Given the description of an element on the screen output the (x, y) to click on. 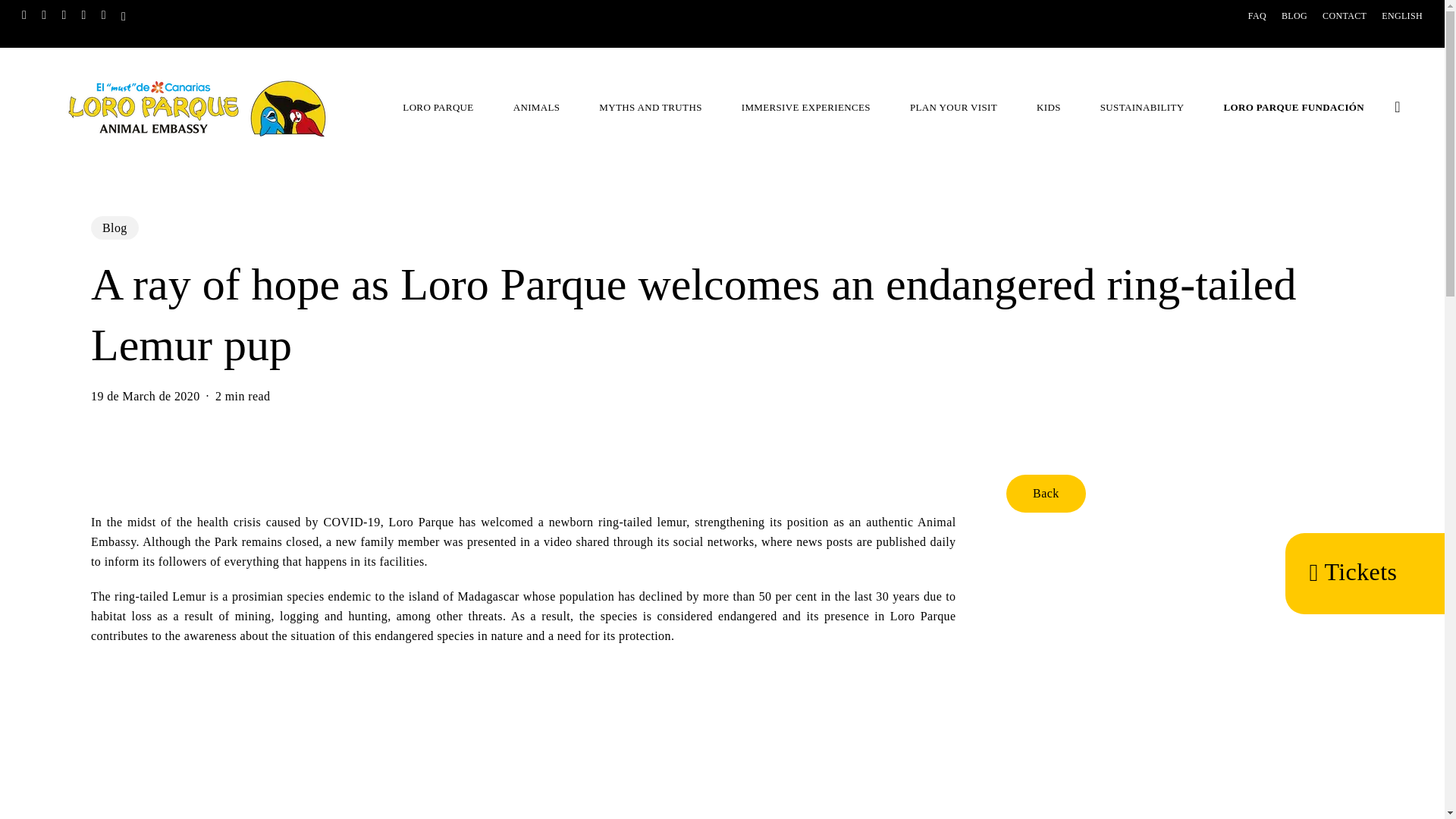
CONTACT (1344, 23)
LORO PARQUE (445, 106)
BLOG (1294, 15)
MYTHS AND TRUTHS (657, 106)
ENGLISH (1401, 15)
FAQ (1256, 15)
English (1401, 15)
ANIMALS (544, 106)
